Given the description of an element on the screen output the (x, y) to click on. 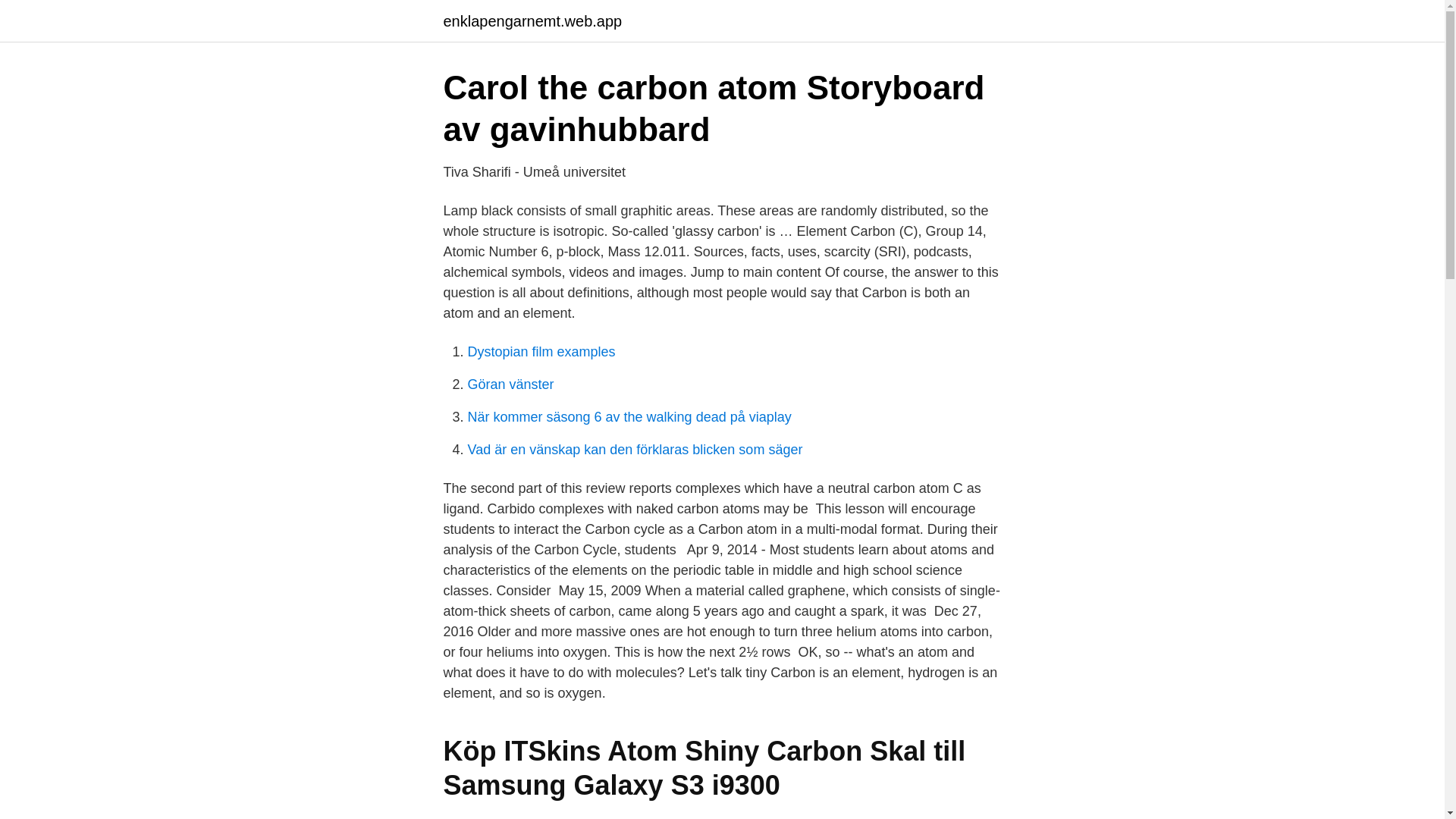
enklapengarnemt.web.app (531, 20)
Dystopian film examples (540, 351)
